Given the description of an element on the screen output the (x, y) to click on. 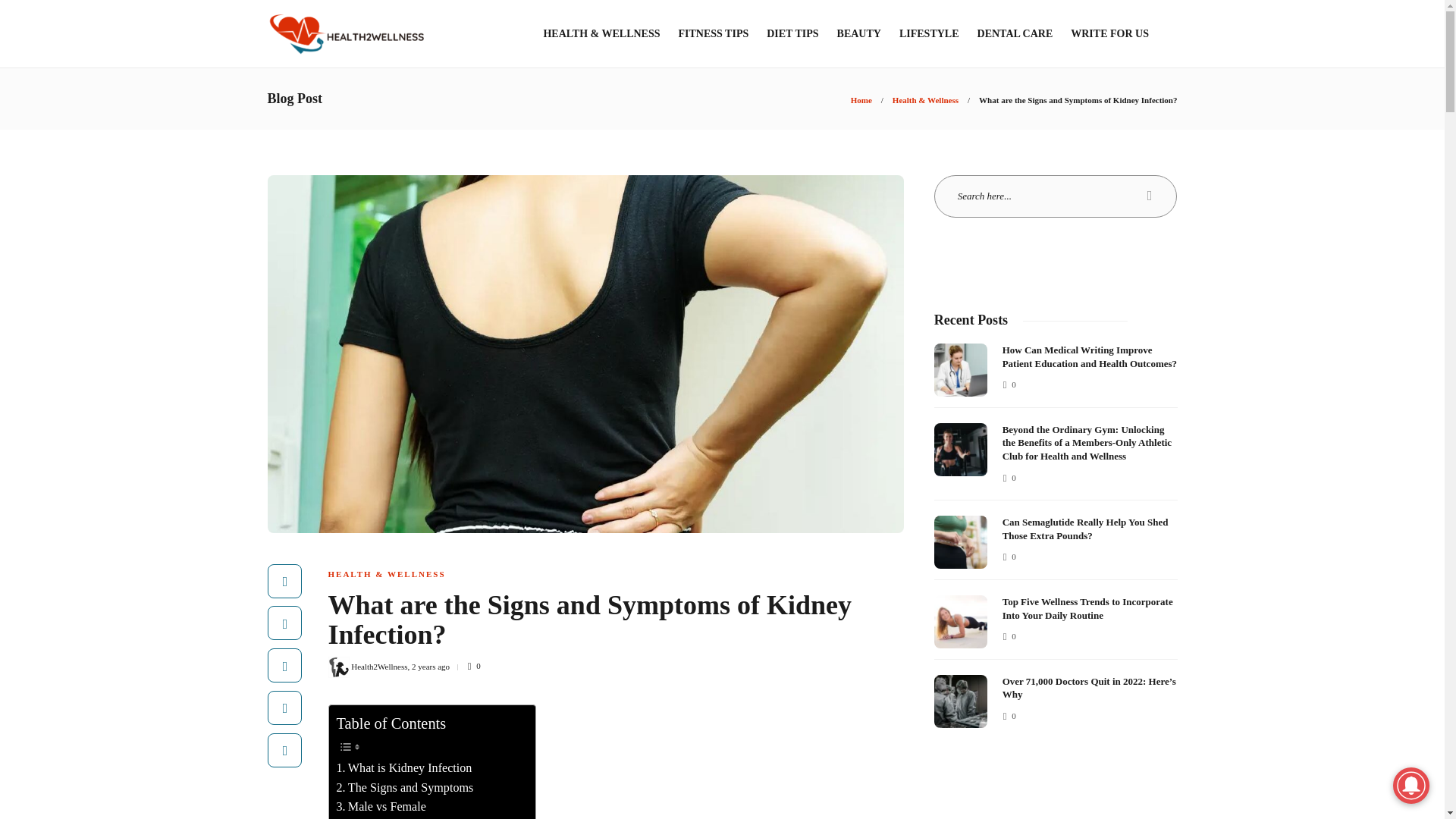
The Signs and Symptoms (405, 787)
Home (861, 99)
What are the Signs and Symptoms of Kidney Infection? (1077, 99)
What is Kidney Infection (403, 768)
Male vs Female (381, 806)
DIET TIPS (792, 33)
WRITE FOR US (1109, 33)
The Causes of Kidney Infection (420, 817)
LIFESTYLE (929, 33)
DENTAL CARE (1014, 33)
FITNESS TIPS (713, 33)
Home (861, 99)
